Given the description of an element on the screen output the (x, y) to click on. 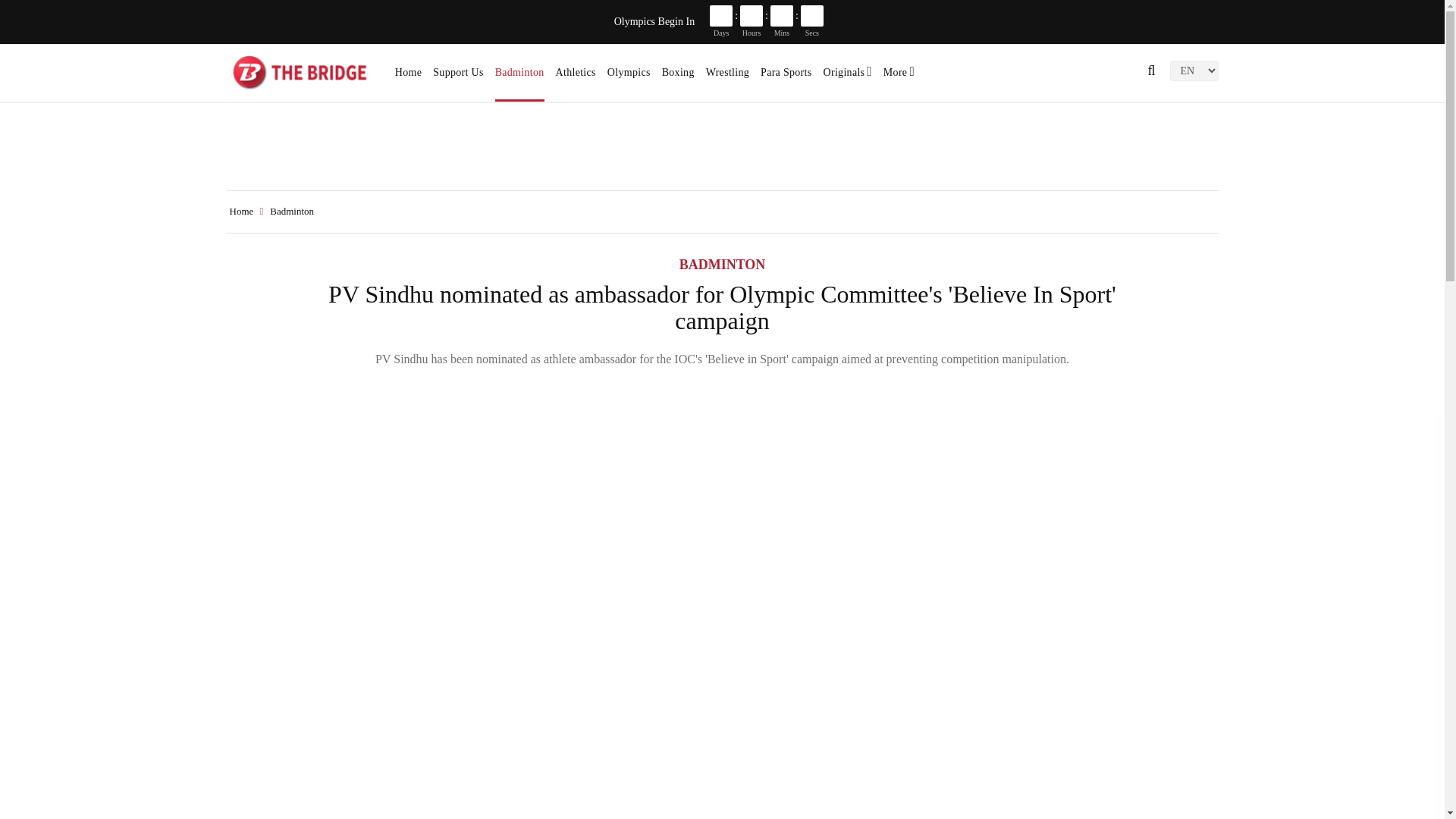
Badminton (519, 77)
Support Us (457, 77)
Originals (848, 77)
Wrestling (727, 77)
Olympics (628, 77)
Para Sports (785, 77)
